Given the description of an element on the screen output the (x, y) to click on. 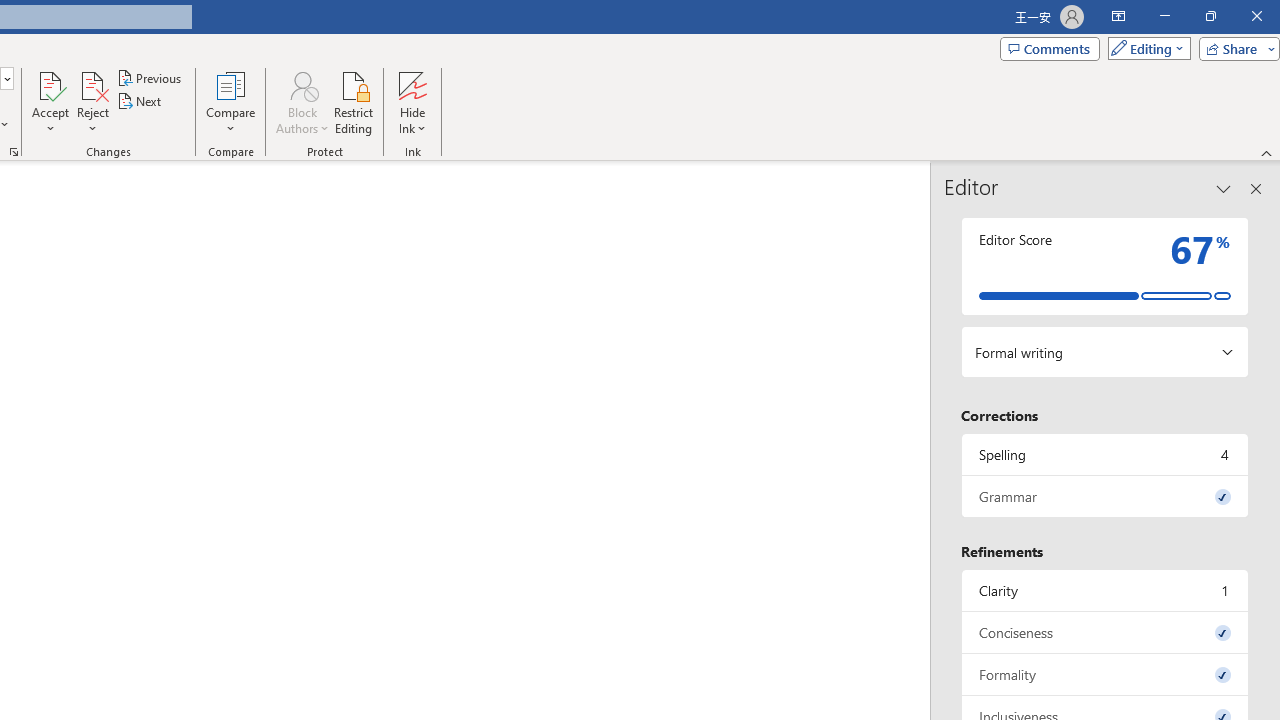
Hide Ink (412, 102)
Reject and Move to Next (92, 84)
Grammar, 0 issues. Press space or enter to review items. (1105, 495)
Restrict Editing (353, 102)
